Given the description of an element on the screen output the (x, y) to click on. 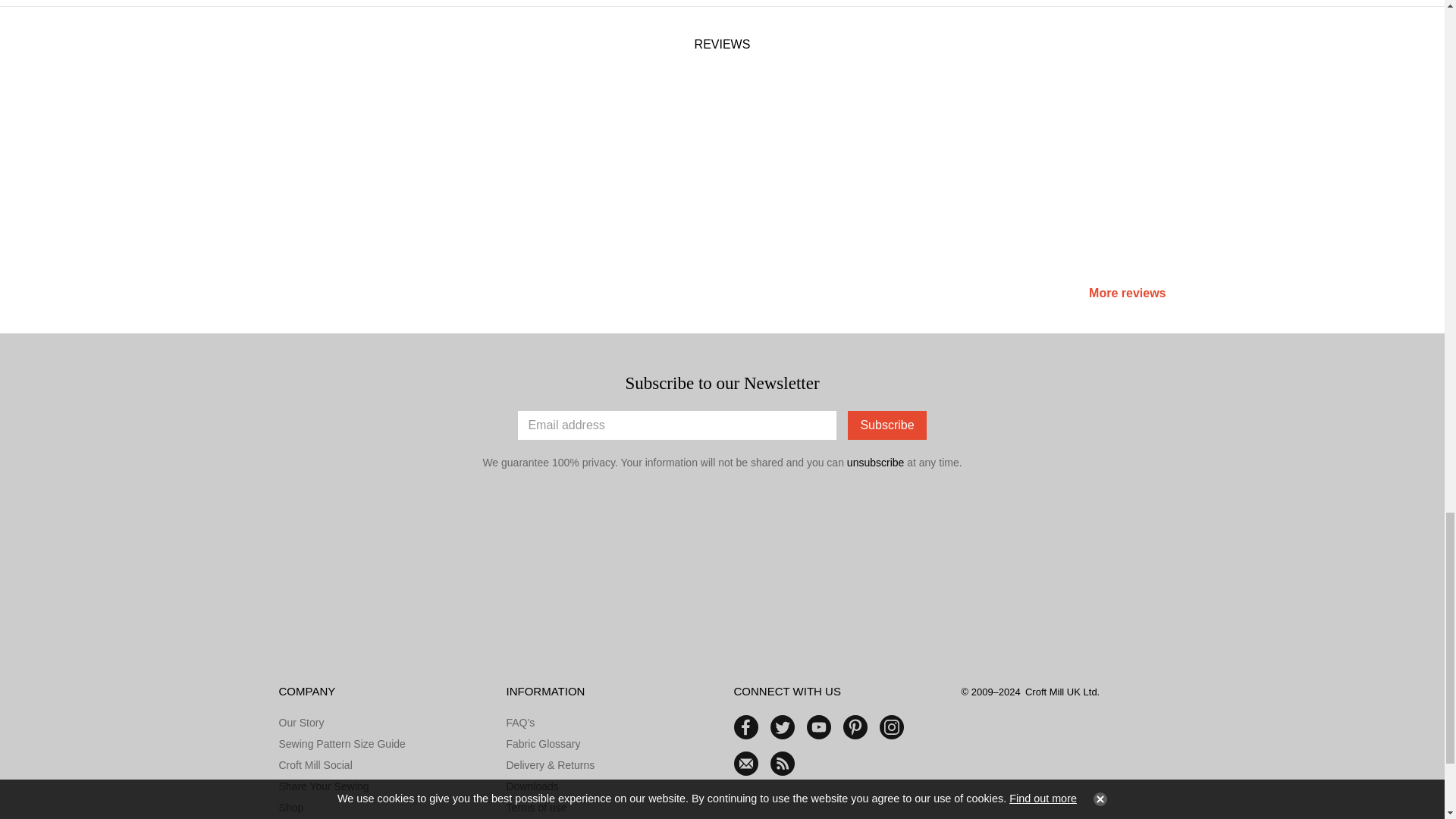
Subscribe (886, 425)
